Given the description of an element on the screen output the (x, y) to click on. 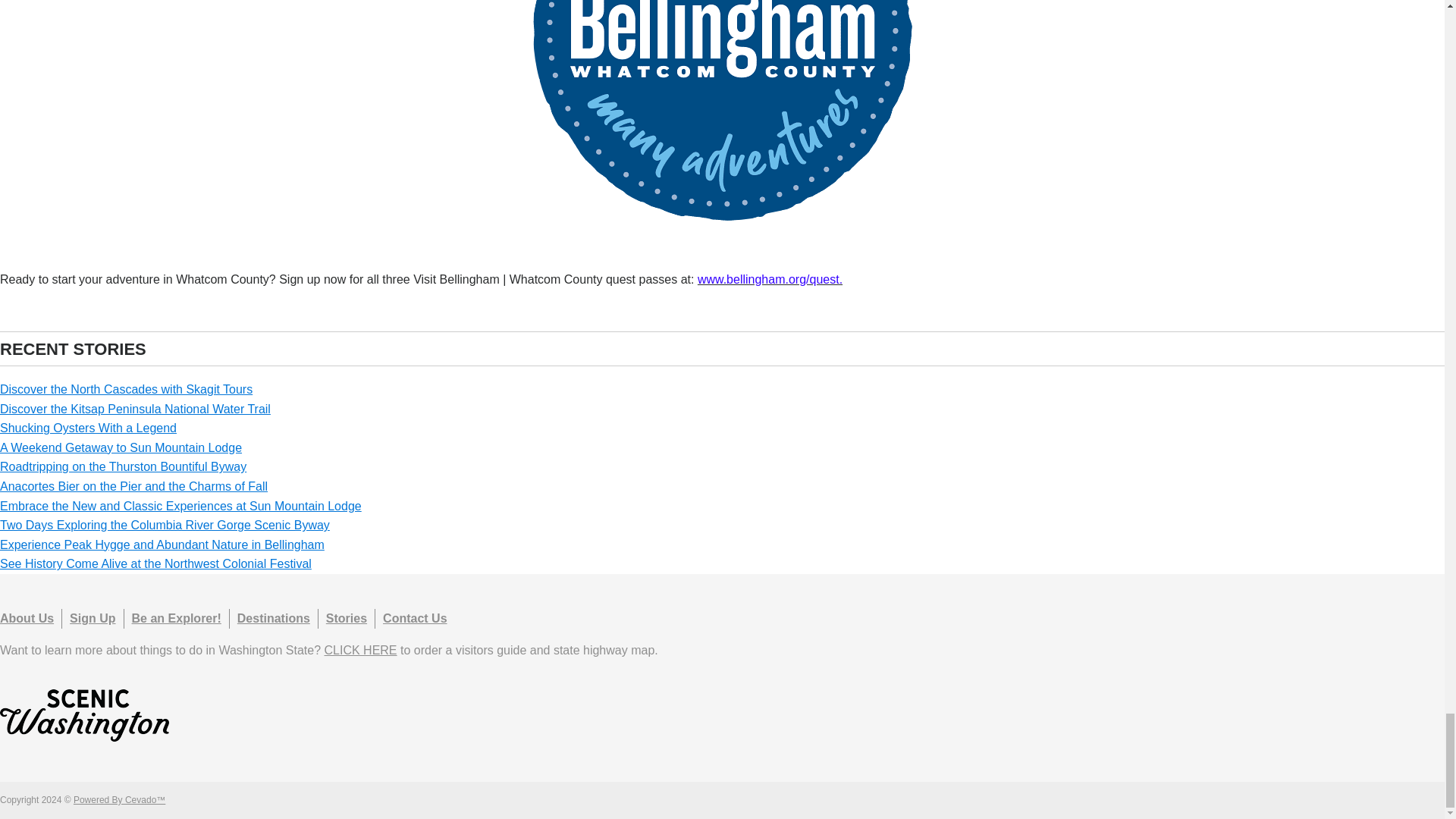
A Weekend Getaway to Sun Mountain Lodge (120, 447)
Shucking Oysters With a Legend (88, 427)
See History Come Alive at the Northwest Colonial Festival (155, 563)
Roadtripping on the Thurston Bountiful Byway (123, 466)
Discover the Kitsap Peninsula National Water Trail (135, 408)
Bellingham Whatcom (721, 228)
Anacortes Bier on the Pier and the Charms of Fall (133, 486)
Two Days Exploring the Columbia River Gorge Scenic Byway (165, 524)
About Us (26, 617)
Discover the North Cascades with Skagit Tours (125, 389)
Experience Peak Hygge and Abundant Nature in Bellingham (162, 544)
